Given the description of an element on the screen output the (x, y) to click on. 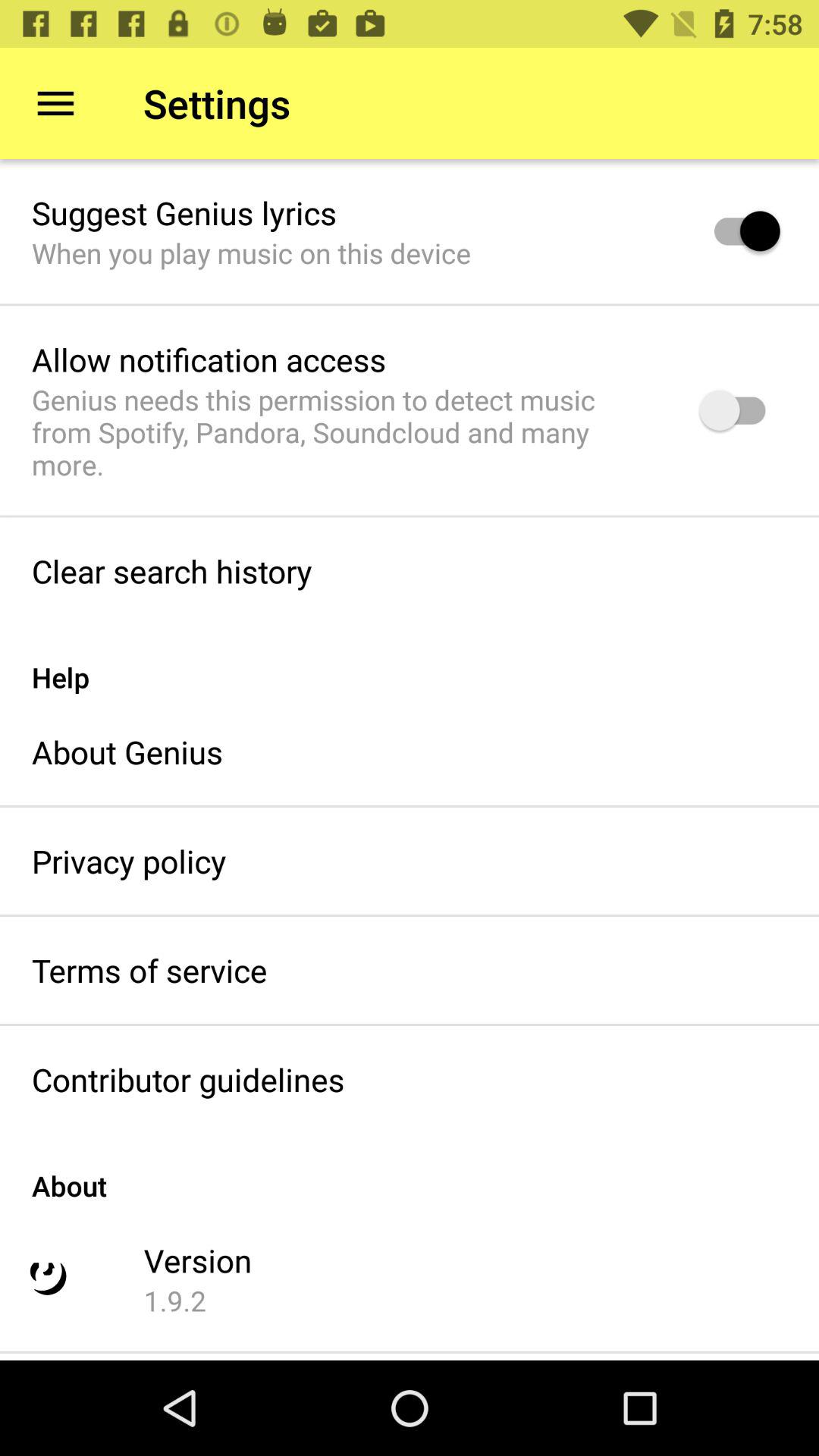
open the about genius (126, 751)
